Given the description of an element on the screen output the (x, y) to click on. 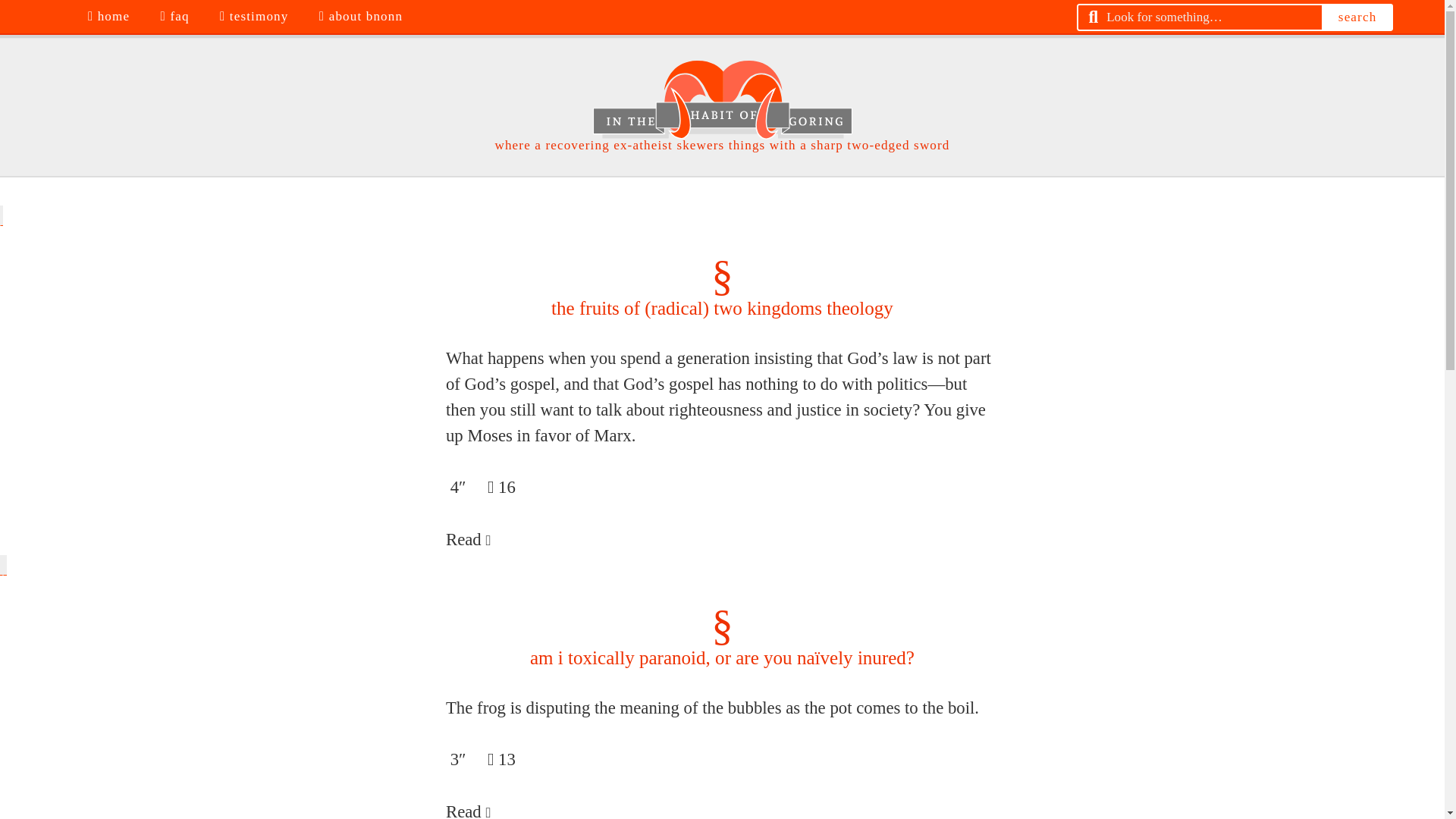
search (1357, 17)
faq (176, 16)
home (110, 16)
about bnonn (361, 16)
testimony (255, 16)
